Given the description of an element on the screen output the (x, y) to click on. 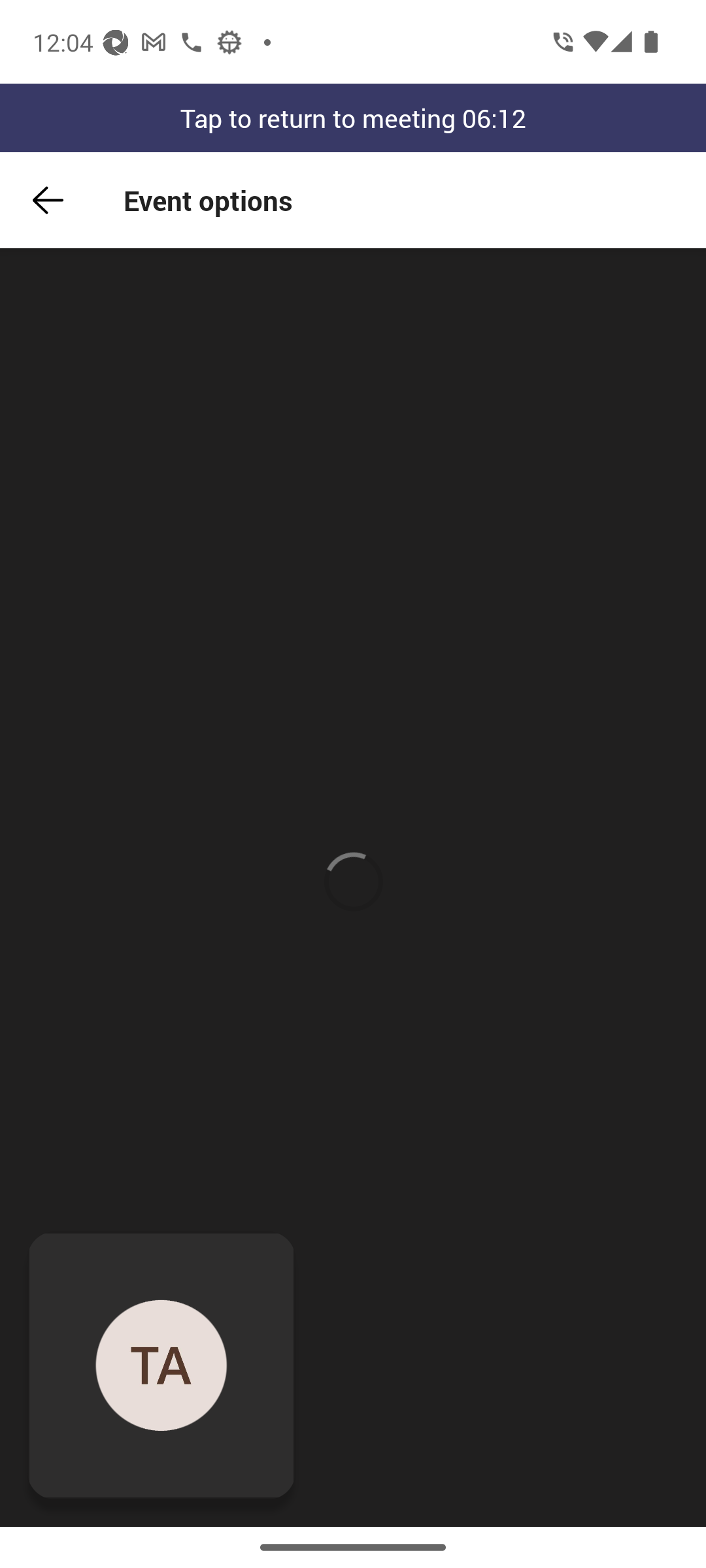
Tap to return to meeting 06:12 (353, 117)
Back (48, 199)
